Given the description of an element on the screen output the (x, y) to click on. 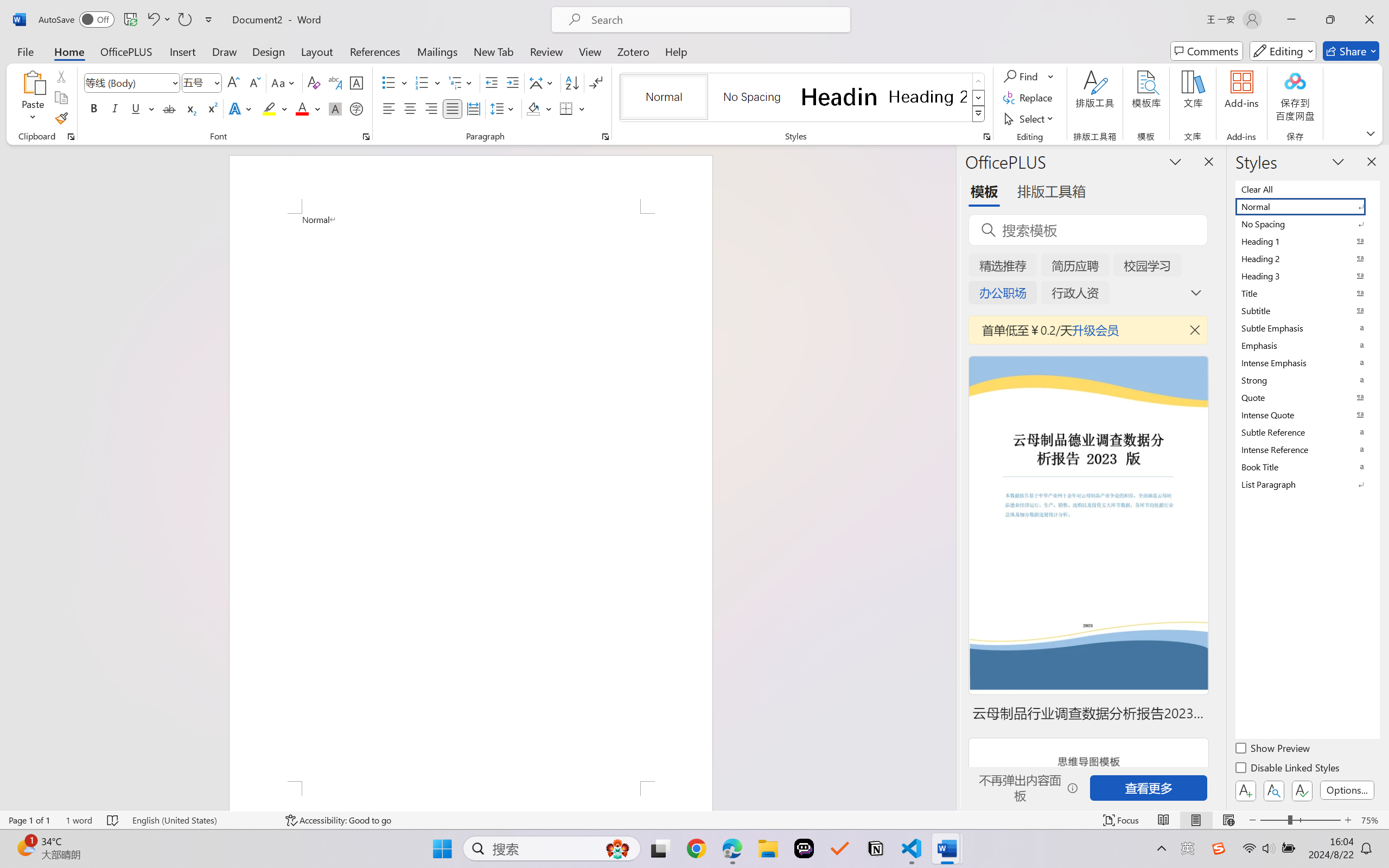
Close (1369, 19)
Text Highlight Color (274, 108)
Focus  (1121, 819)
Spelling and Grammar Check No Errors (113, 819)
Distributed (473, 108)
Align Left (388, 108)
New Tab (493, 51)
Clear Formatting (313, 82)
Language English (United States) (201, 819)
Underline (142, 108)
Text Highlight Color Yellow (269, 108)
Subtle Emphasis (1306, 327)
